Given the description of an element on the screen output the (x, y) to click on. 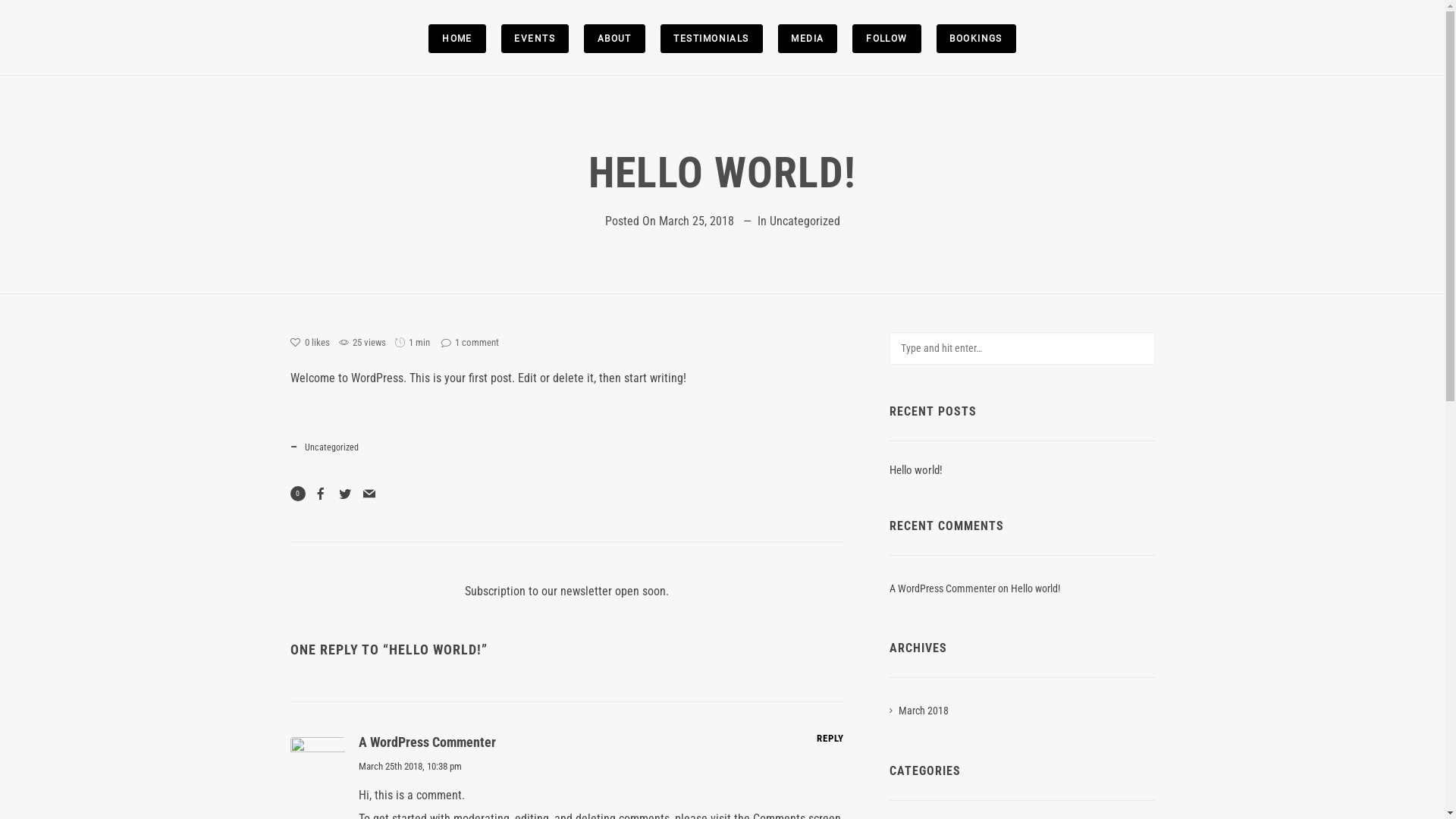
10:38 pm Element type: text (443, 765)
March 2018 Element type: text (918, 710)
Uncategorized Element type: text (803, 220)
A WordPress Commenter Element type: text (426, 741)
Uncategorized Element type: text (330, 448)
REPLY Element type: text (829, 737)
ABOUT Element type: text (614, 37)
A WordPress Commenter Element type: text (942, 588)
TESTIMONIALS Element type: text (711, 37)
1 comment Element type: text (469, 342)
MEDIA Element type: text (807, 37)
BOOKINGS Element type: text (975, 37)
Hello world! Element type: text (1035, 588)
Hello world! Element type: text (915, 469)
EVENTS Element type: text (534, 37)
HOME Element type: text (456, 37)
FOLLOW Element type: text (886, 37)
